Given the description of an element on the screen output the (x, y) to click on. 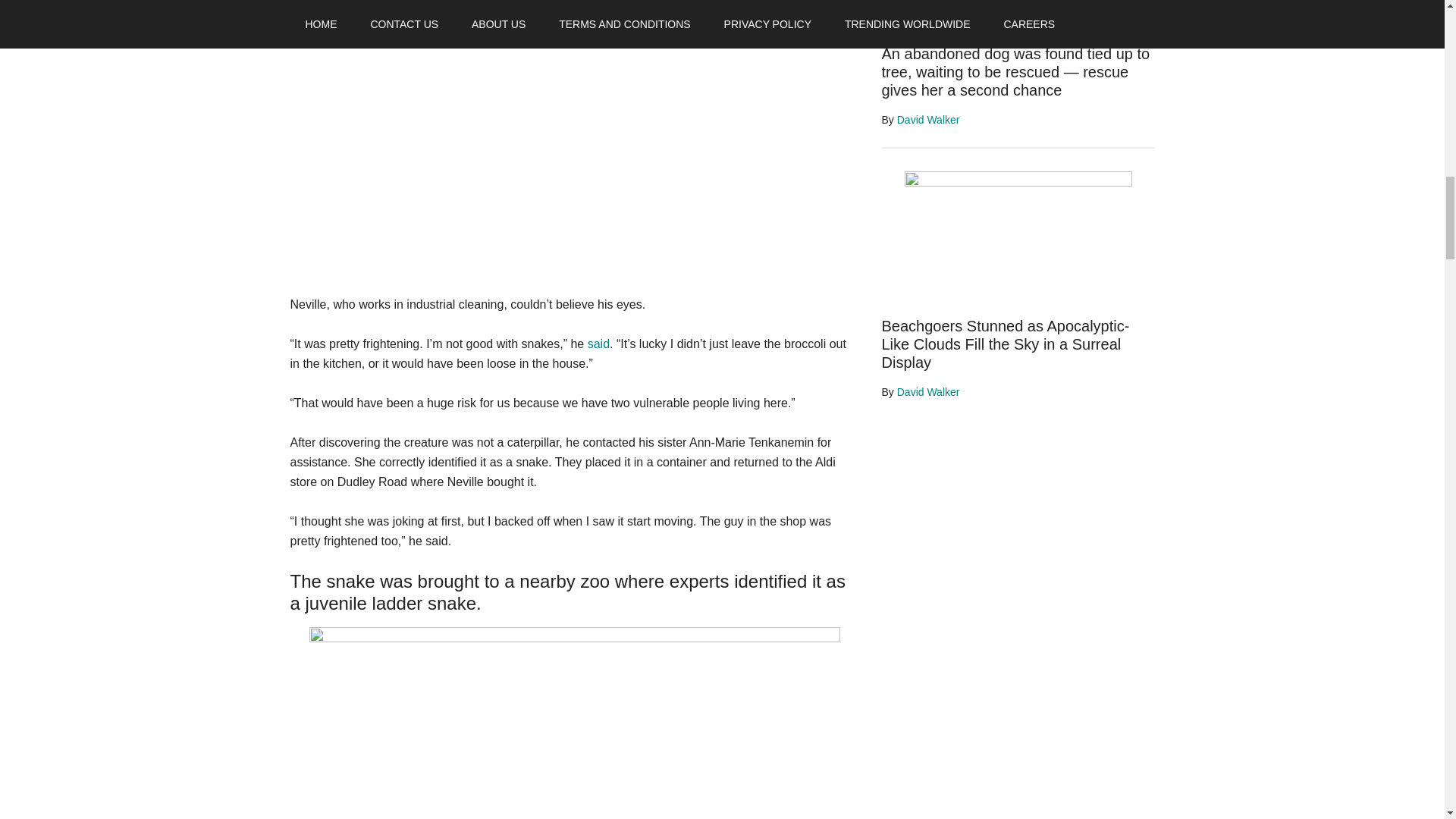
said (599, 343)
